Given the description of an element on the screen output the (x, y) to click on. 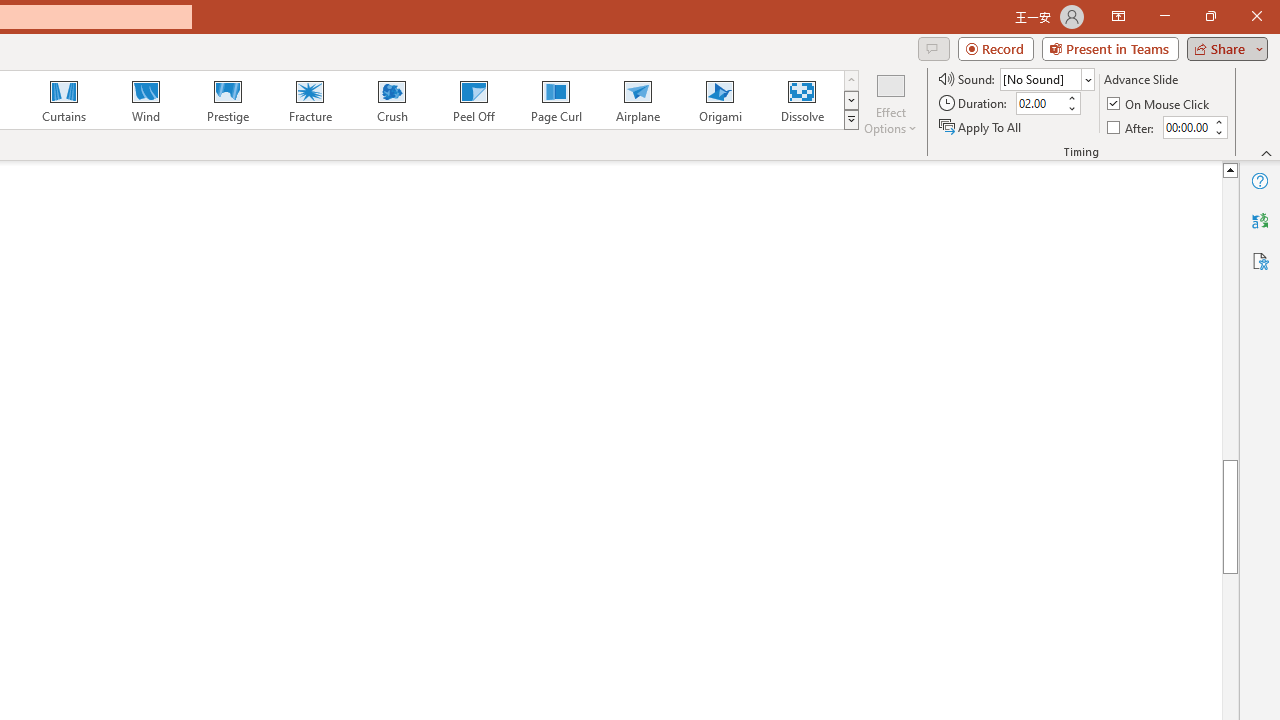
After (1186, 127)
Sound (1046, 78)
Fracture (309, 100)
Page Curl (555, 100)
Duration (1039, 103)
Curtains (63, 100)
Wind (145, 100)
After (1131, 126)
